Given the description of an element on the screen output the (x, y) to click on. 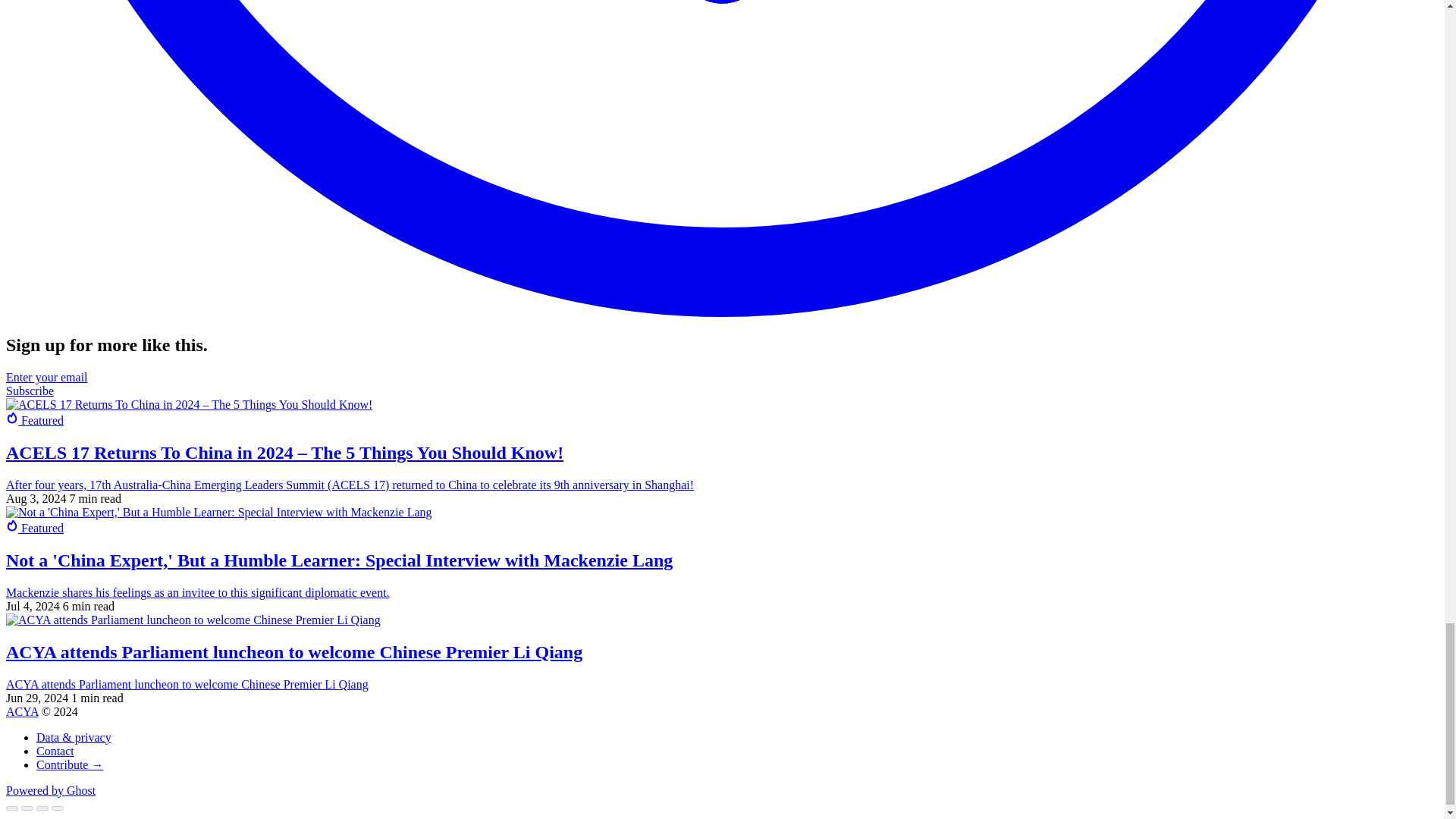
ACYA (22, 711)
Share (27, 807)
Contact (55, 750)
Toggle fullscreen (42, 807)
Powered by Ghost (50, 789)
